Given the description of an element on the screen output the (x, y) to click on. 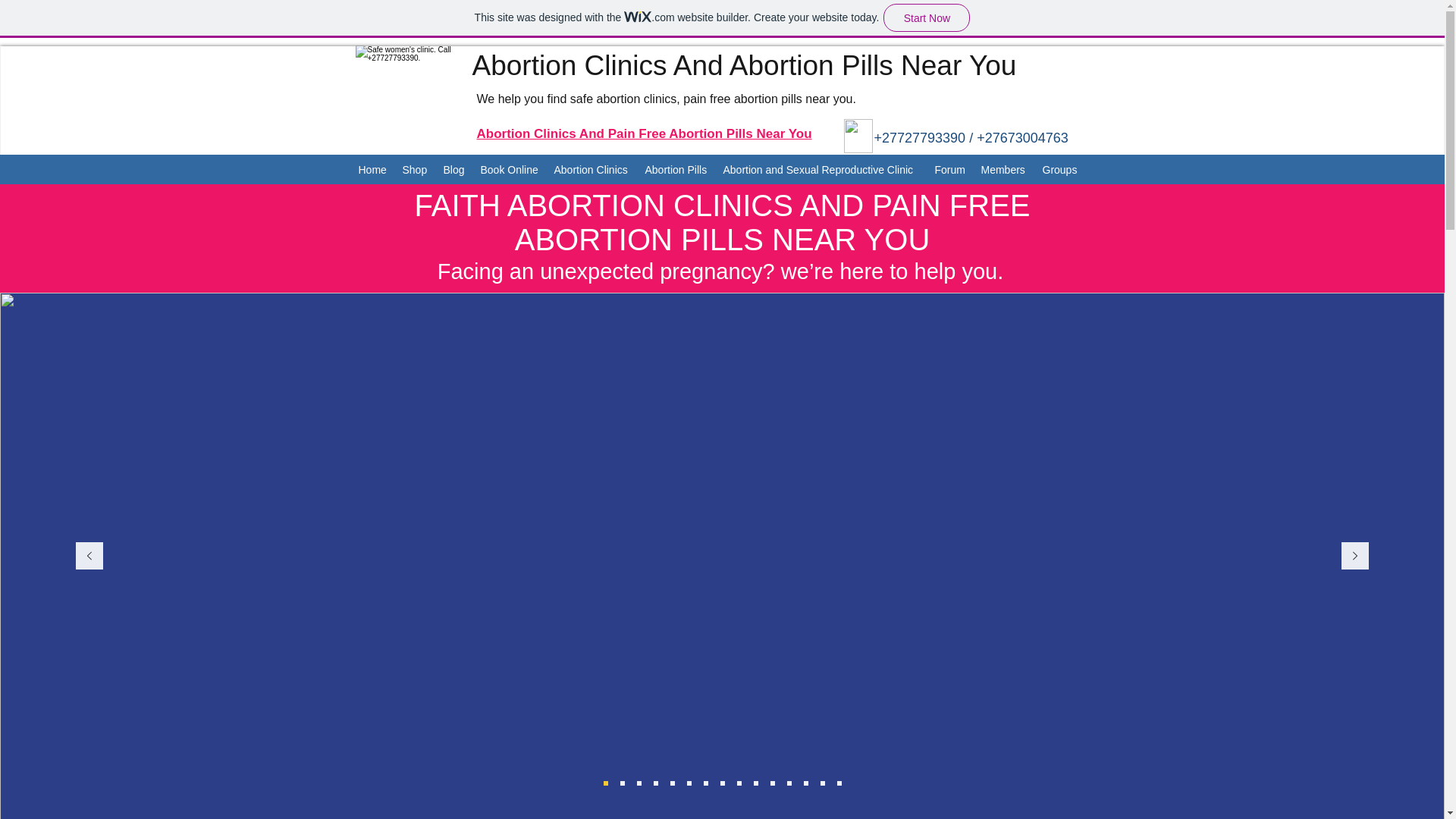
Book Online (510, 169)
Home (372, 169)
Shop (414, 169)
Abortion Clinics (591, 169)
Blog (453, 169)
